Given the description of an element on the screen output the (x, y) to click on. 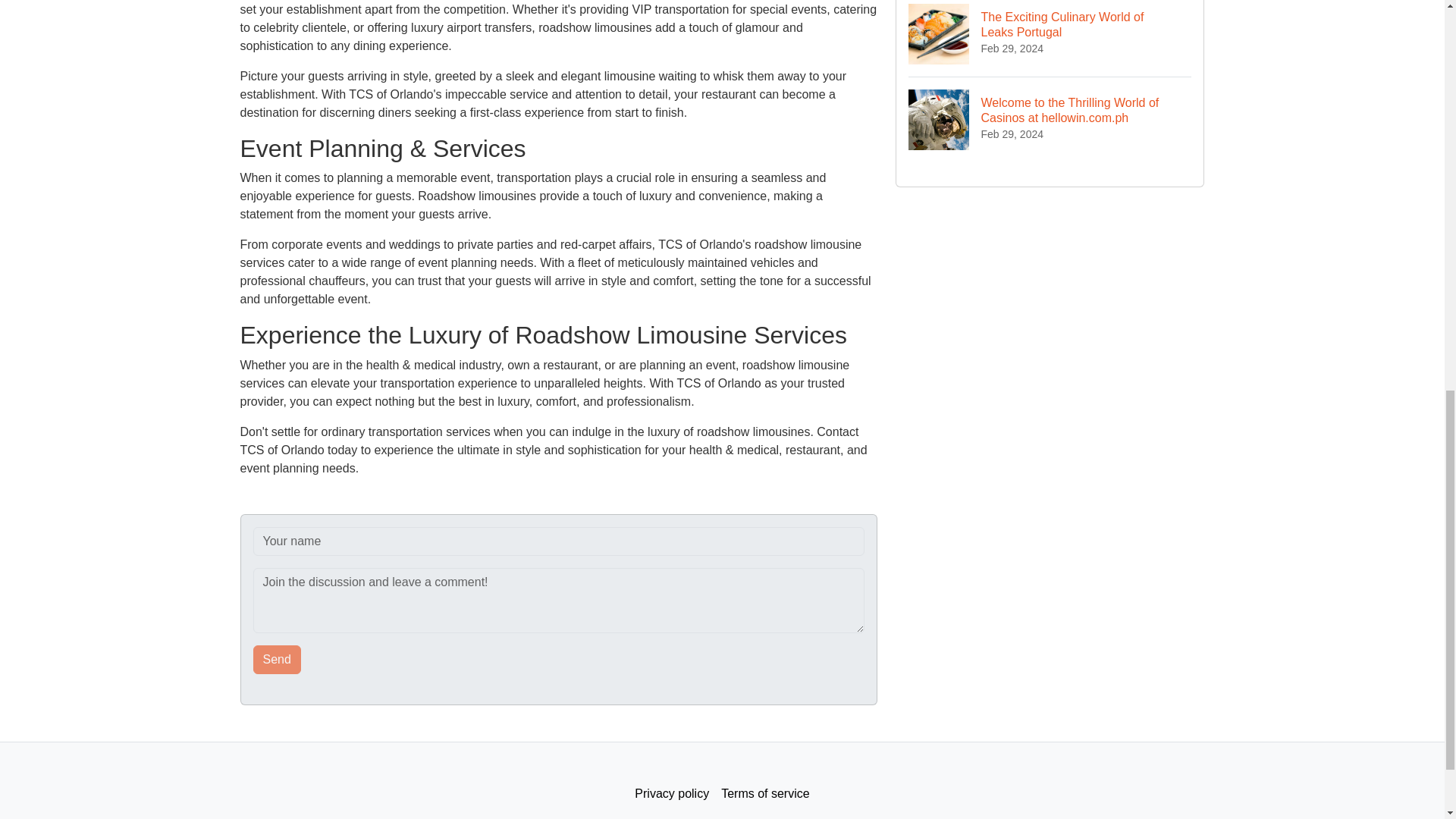
Send (277, 659)
Privacy policy (671, 793)
Send (277, 659)
Terms of service (764, 793)
